Given the description of an element on the screen output the (x, y) to click on. 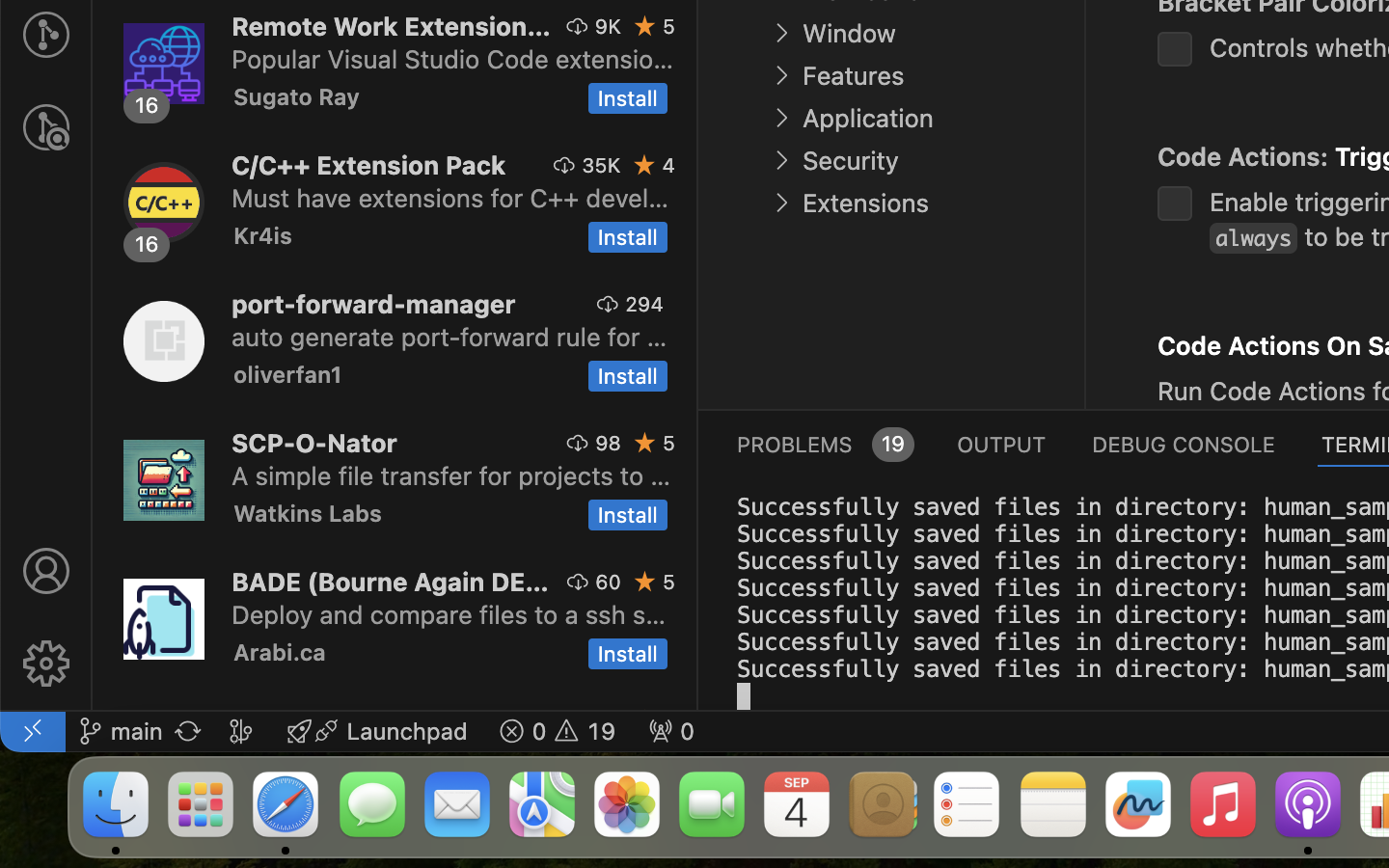
60 Element type: AXStaticText (608, 581)
oliverfan1 Element type: AXStaticText (288, 373)
always Element type: AXStaticText (1253, 238)
Popular Visual Studio Code extensions for Remote Work Element type: AXStaticText (453, 58)
294 Element type: AXStaticText (644, 303)
